Given the description of an element on the screen output the (x, y) to click on. 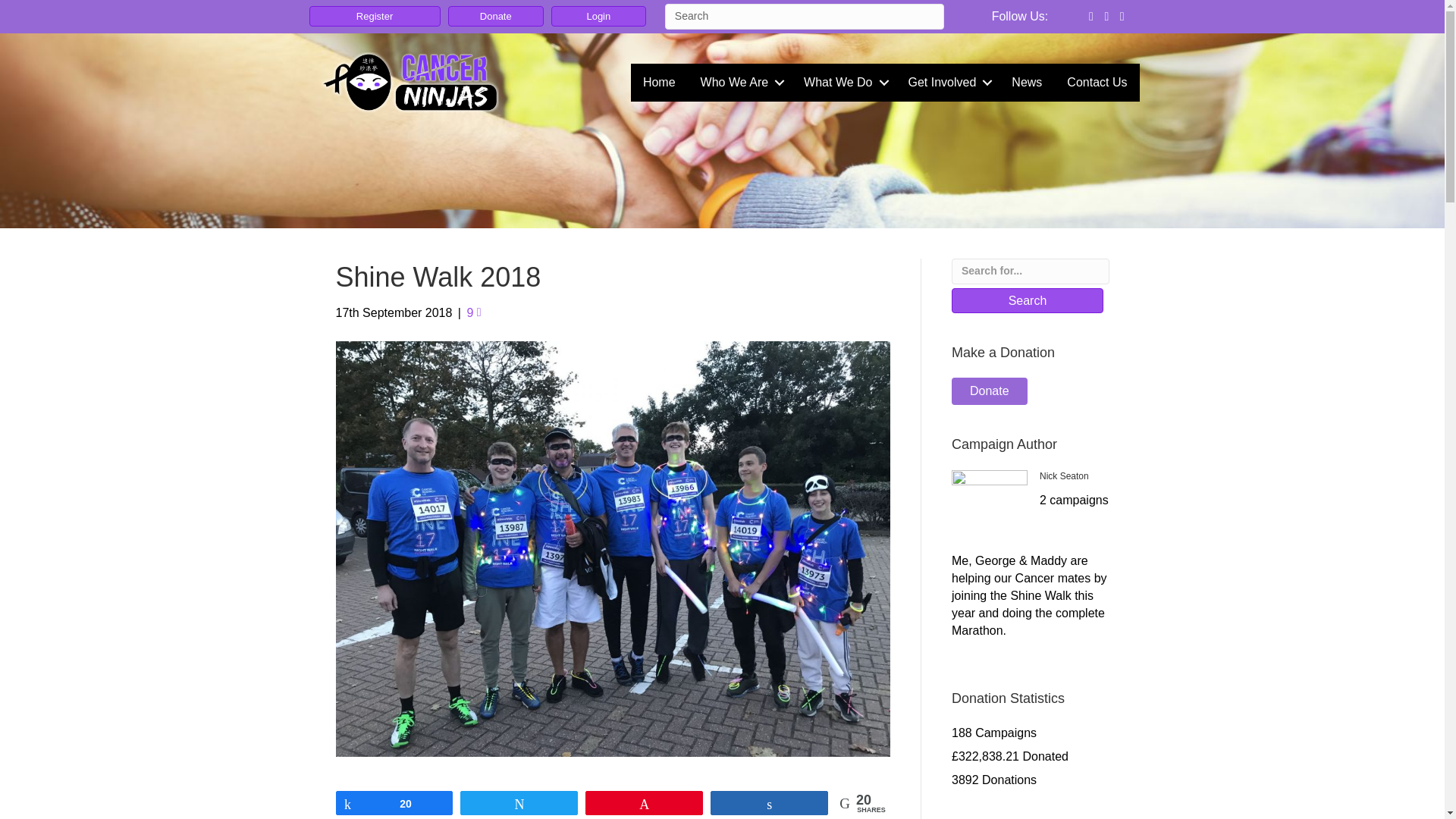
Register (374, 15)
News (1026, 82)
Type and press Enter to search. (804, 16)
9 (472, 312)
Donate (495, 15)
Contact Us (1096, 82)
What We Do (843, 82)
Login (598, 15)
20 (394, 802)
Search for... (1030, 271)
